Given the description of an element on the screen output the (x, y) to click on. 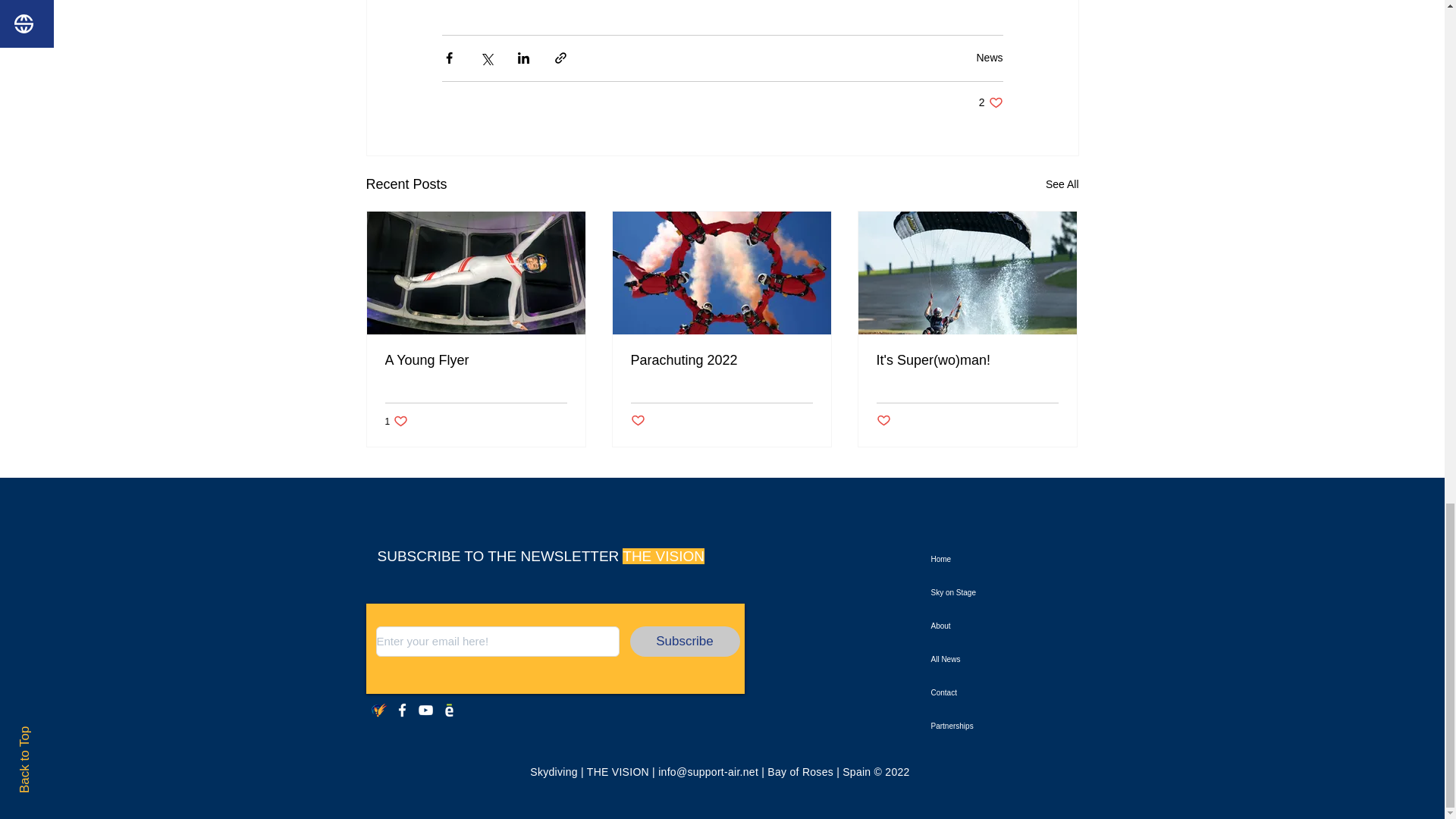
See All (397, 421)
Parachuting 2022 (1061, 184)
A Young Flyer (721, 360)
News (990, 102)
Post not marked as liked (476, 360)
